Given the description of an element on the screen output the (x, y) to click on. 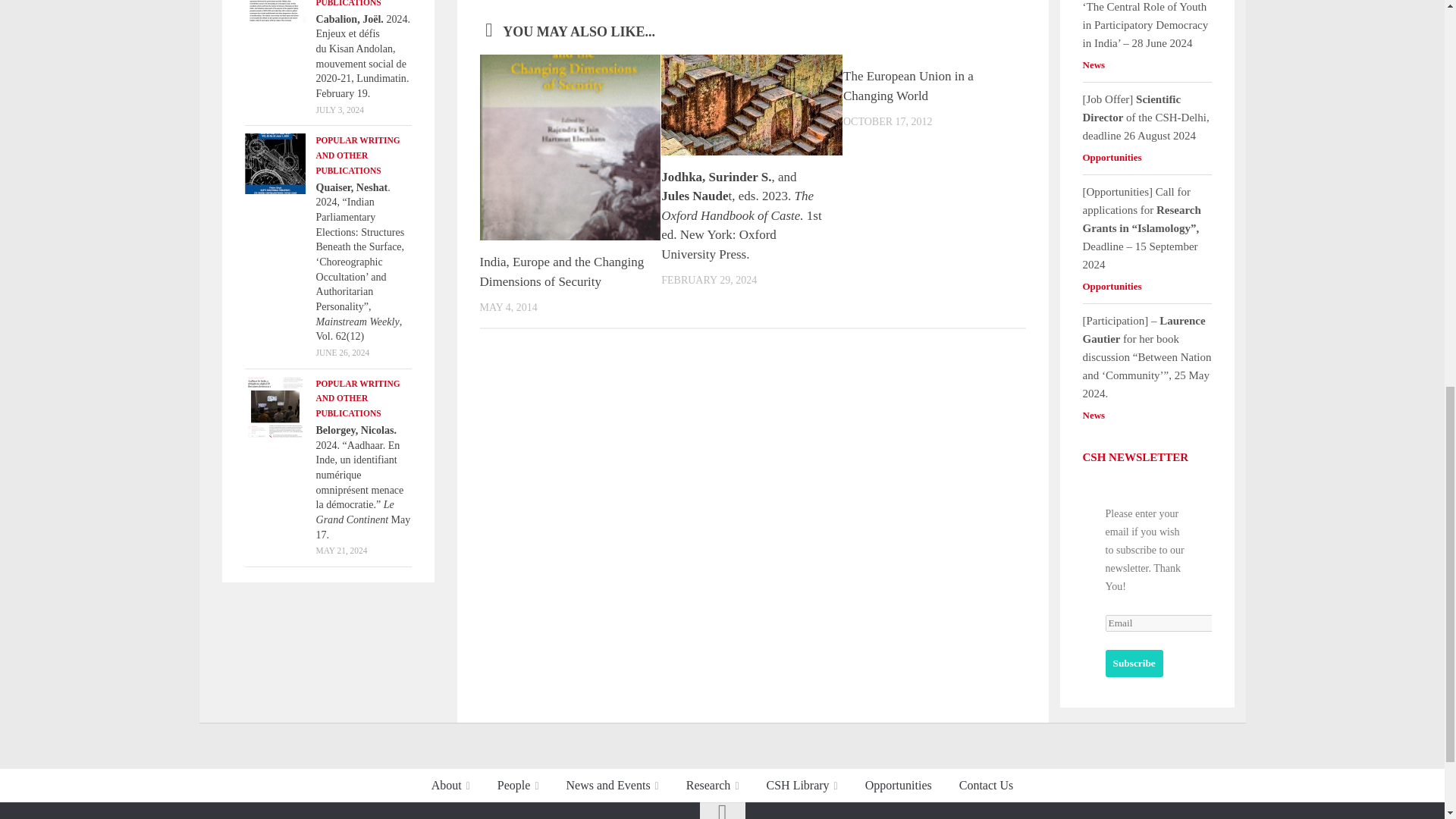
Subscribe (1134, 663)
